Given the description of an element on the screen output the (x, y) to click on. 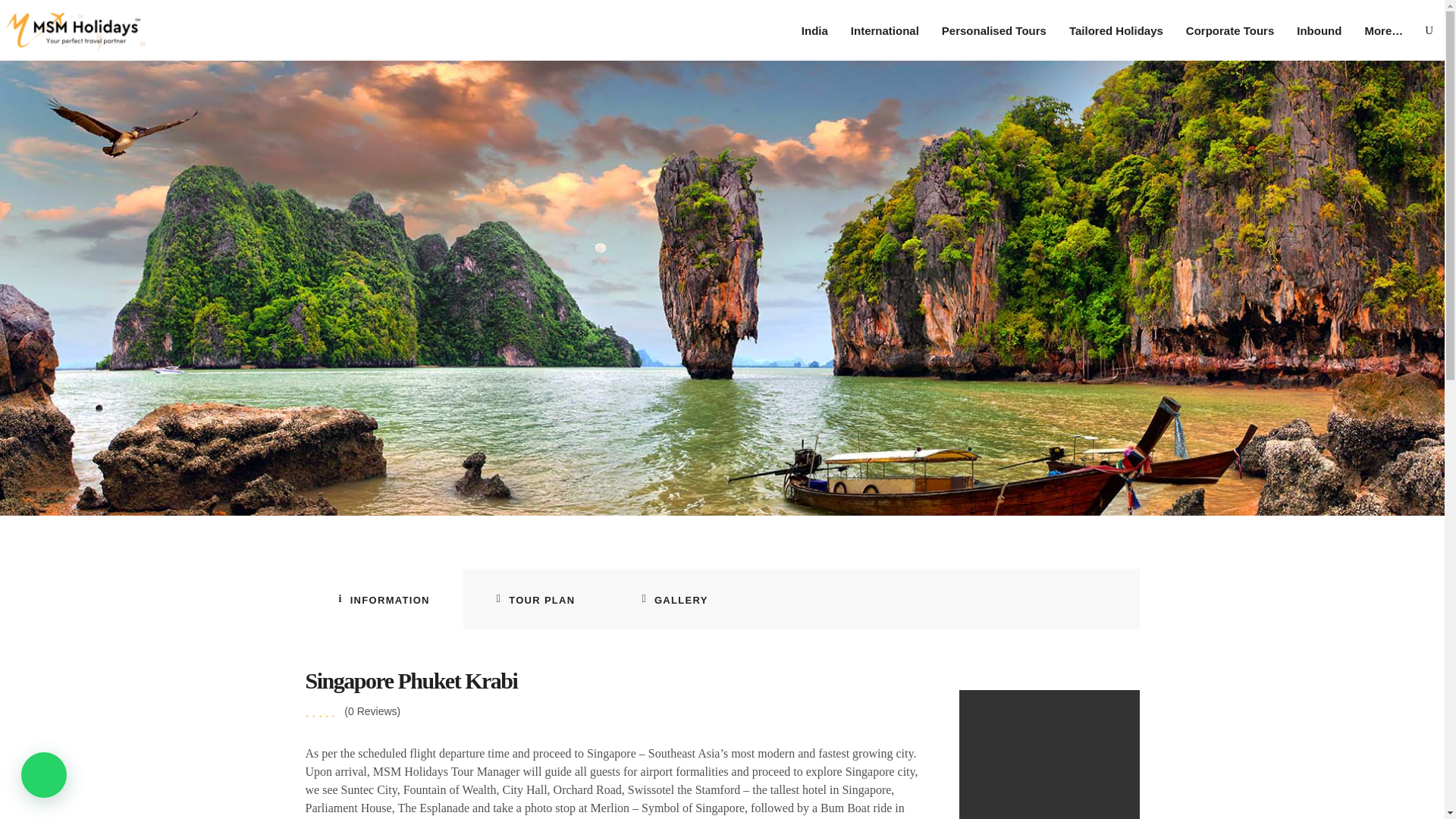
Personalised Tours (994, 30)
Tailored Holidays (1116, 30)
Corporate Tours (1229, 30)
International (885, 30)
Inbound (1318, 30)
India (815, 30)
